Given the description of an element on the screen output the (x, y) to click on. 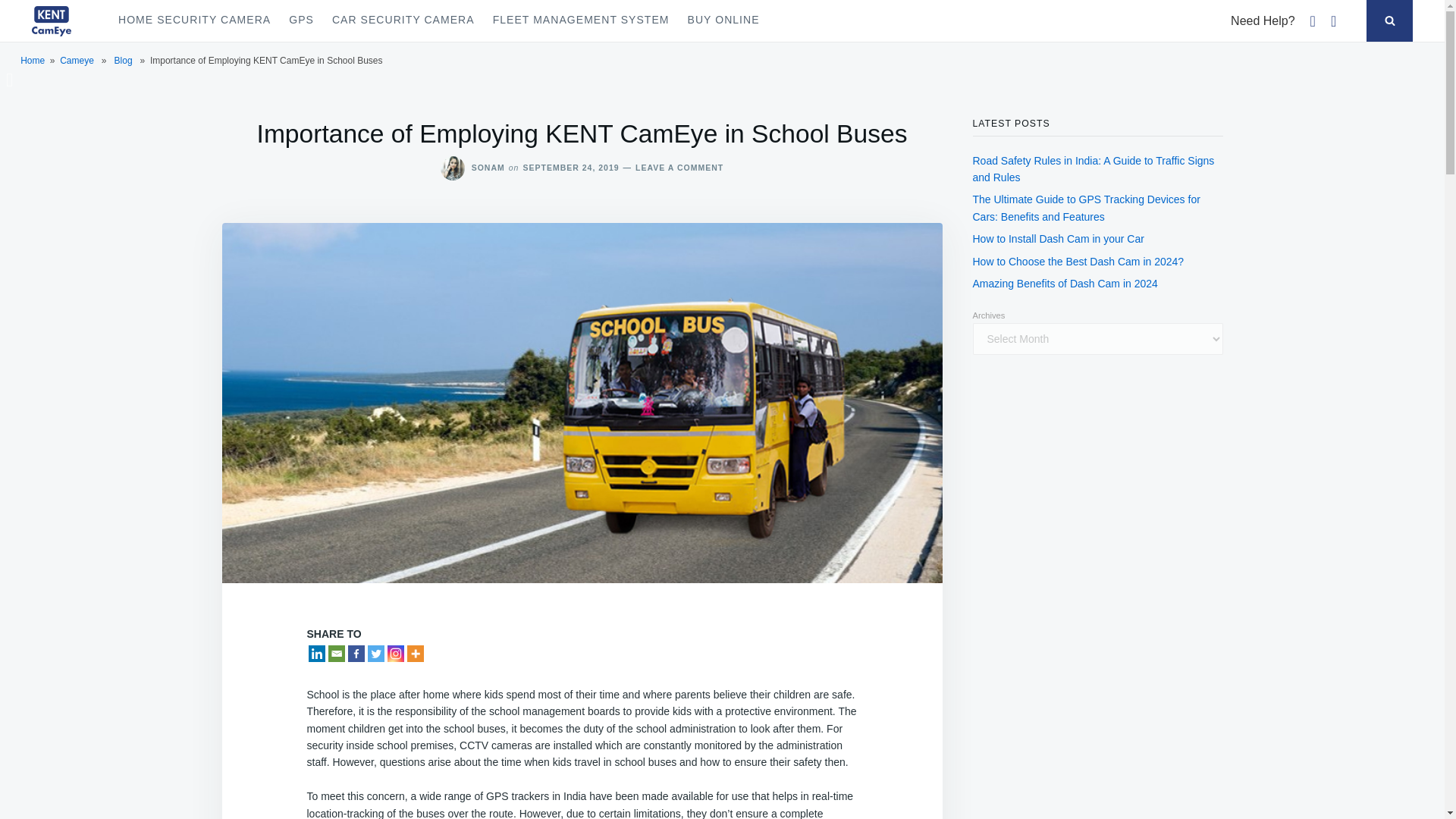
SONAM (488, 166)
Twitter (375, 653)
More (414, 653)
SEPTEMBER 24, 2019 (570, 166)
Home (32, 60)
HOME SECURITY CAMERA (194, 20)
Cameye (76, 60)
GPS (301, 20)
FLEET MANAGEMENT SYSTEM (580, 20)
Email (335, 653)
